Given the description of an element on the screen output the (x, y) to click on. 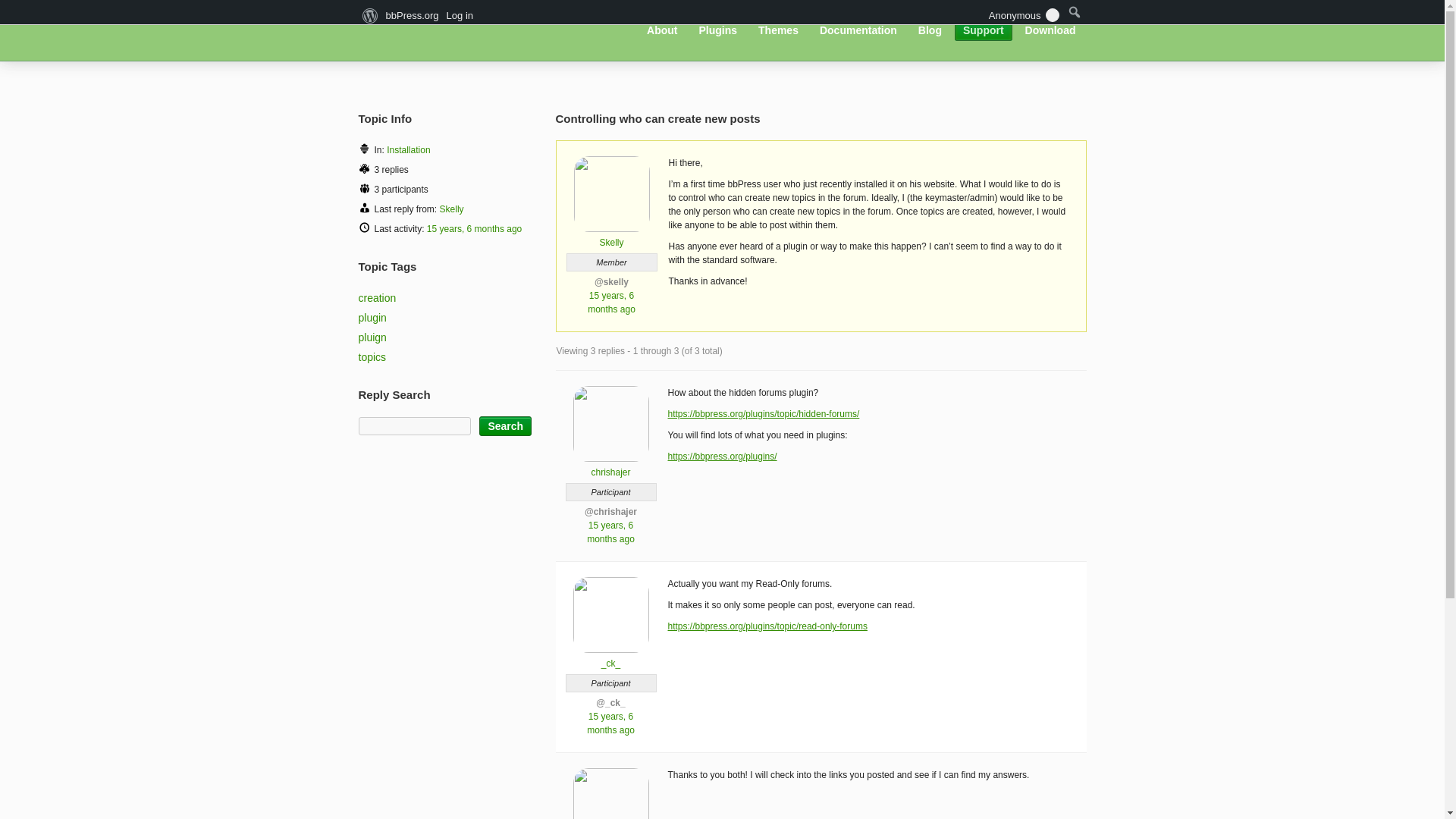
Documentation (857, 29)
Skelly (611, 236)
Download (1050, 29)
Skelly (451, 208)
Themes (777, 29)
15 years, 6 months ago (610, 532)
pluign (371, 337)
topics (371, 357)
Plugins (717, 29)
About (662, 29)
